Given the description of an element on the screen output the (x, y) to click on. 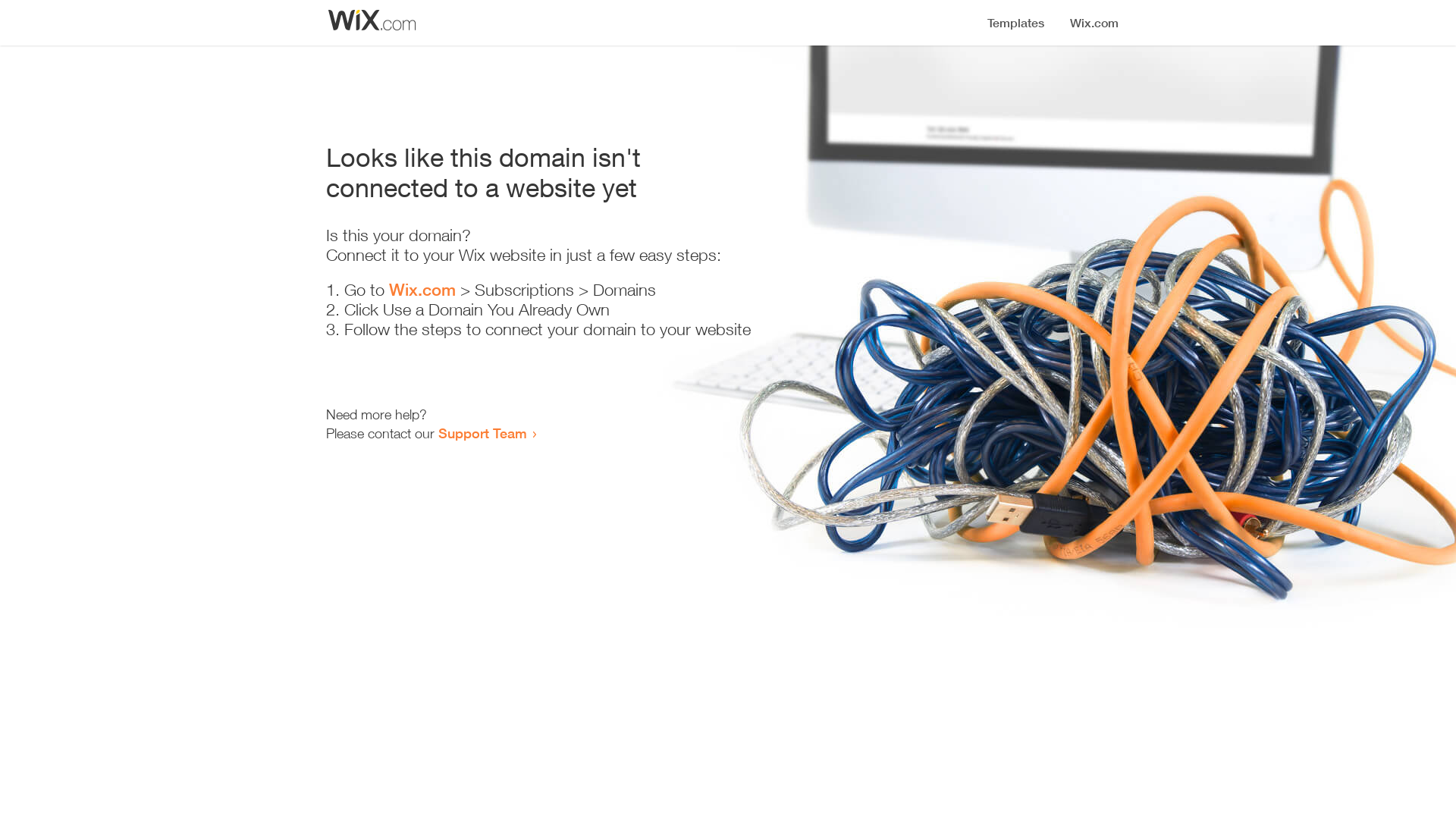
Wix.com Element type: text (422, 289)
Support Team Element type: text (482, 432)
